Given the description of an element on the screen output the (x, y) to click on. 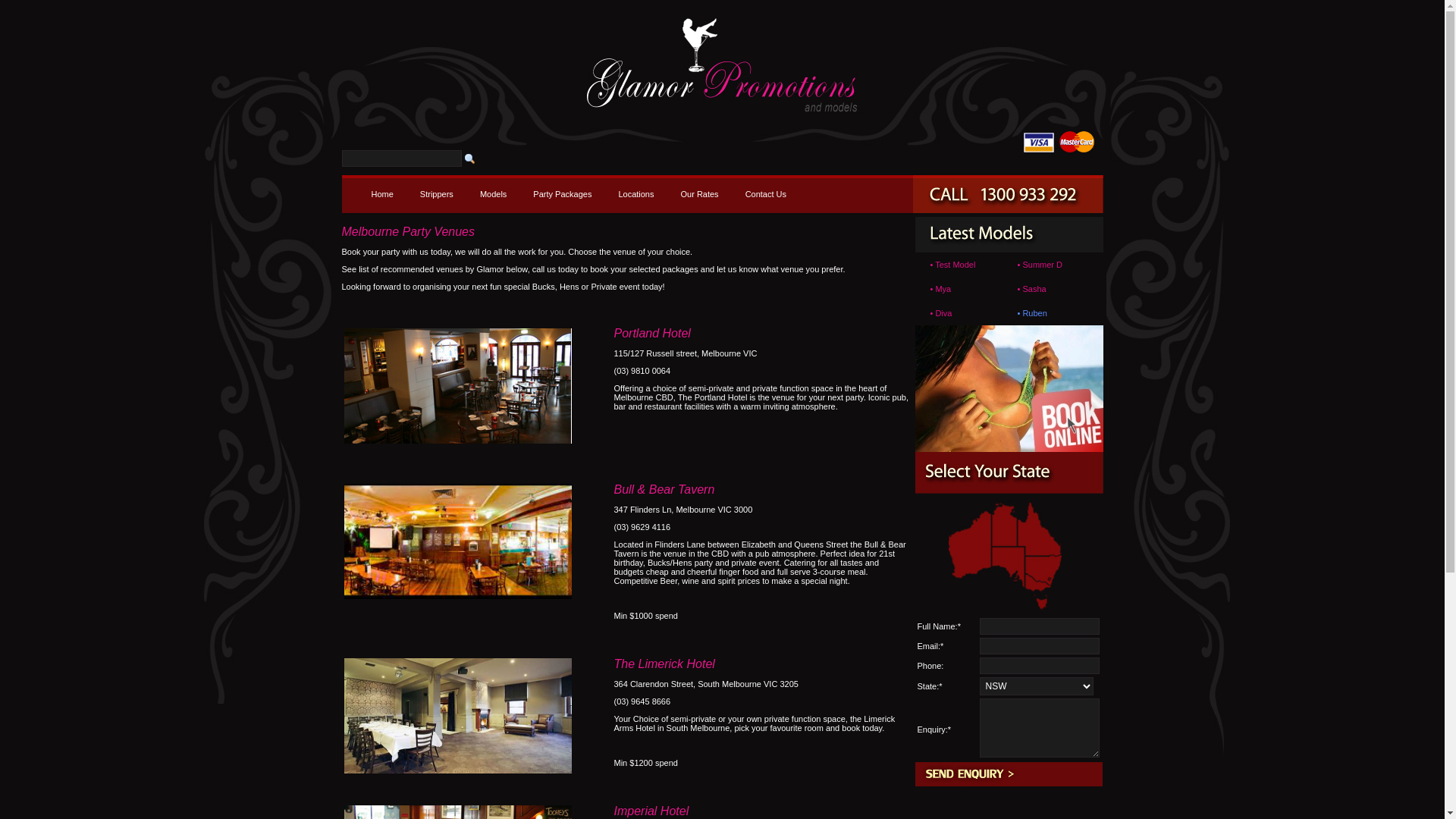
Diva Element type: text (943, 312)
Party Packages Element type: text (561, 193)
Contact Us Element type: text (765, 193)
Portland Hotel Melbourne, perfect hens or bucks party venue Element type: hover (457, 385)
              Element type: text (356, 213)
Mya Element type: text (942, 288)
Home Element type: text (381, 193)
Summer D Element type: text (1042, 264)
Ruben Element type: text (1034, 312)
Locations Element type: text (635, 193)
Glamor Bucks parties and poker nights in Melbounre Element type: hover (457, 595)
Our Rates Element type: text (698, 193)
Sasha Element type: text (1033, 288)
Test Model Element type: text (955, 264)
Models Element type: text (492, 193)
Strippers Element type: text (436, 193)
Glamor Bucks parties and poker nights at Limerick hotel Element type: hover (457, 770)
